Given the description of an element on the screen output the (x, y) to click on. 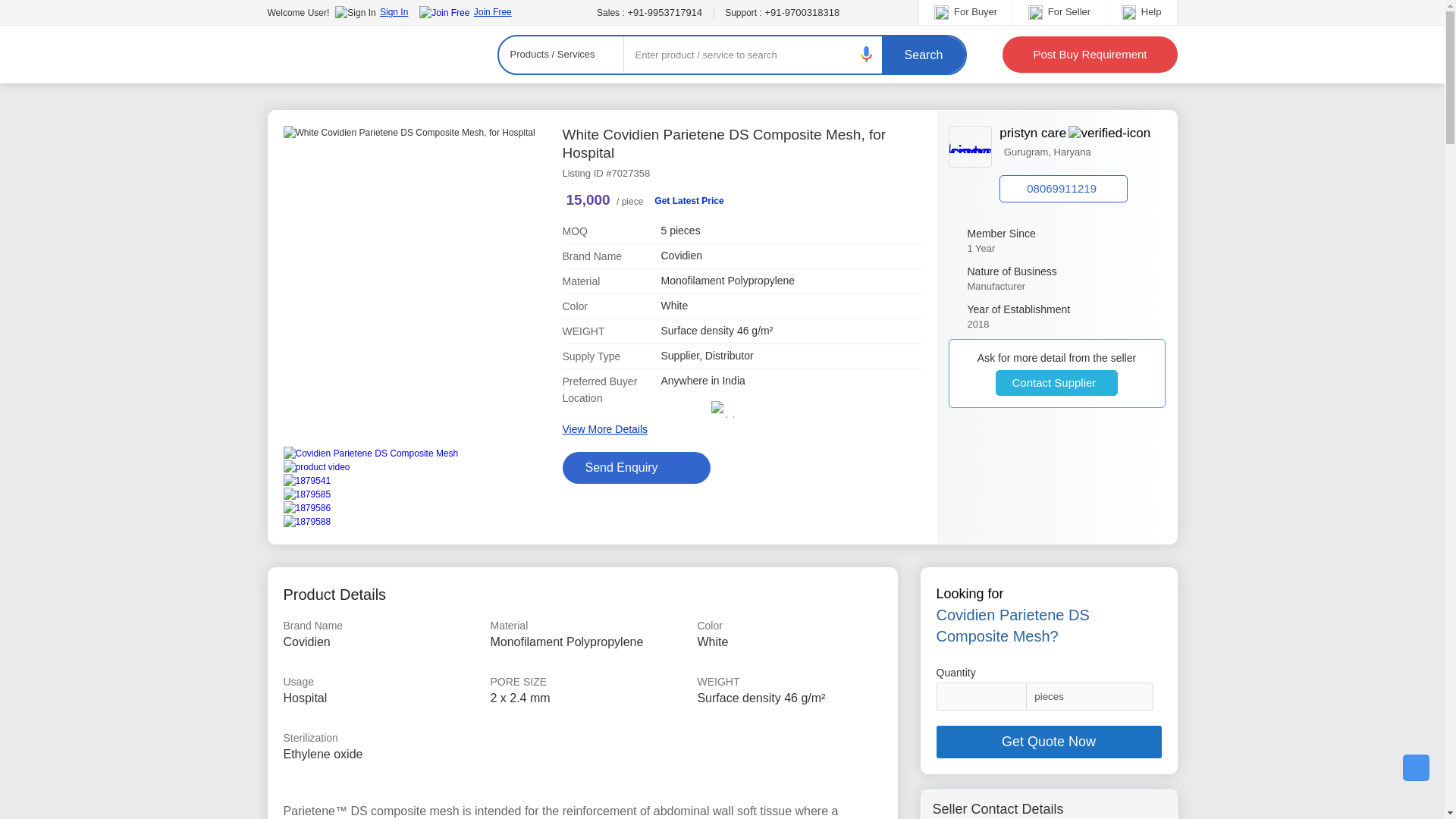
Contact Supplier (1055, 382)
Login to Exportersindia (370, 11)
Search (924, 54)
Verified (1109, 133)
For Buyer (965, 11)
Join Exportersindia Free (465, 11)
View More Details (604, 428)
Send Enquiry (636, 468)
Sign In (370, 11)
pieces (1089, 696)
08069911219 (1081, 142)
Exporters India (1062, 188)
Help (363, 54)
Post Buy Requirement (1140, 11)
